Given the description of an element on the screen output the (x, y) to click on. 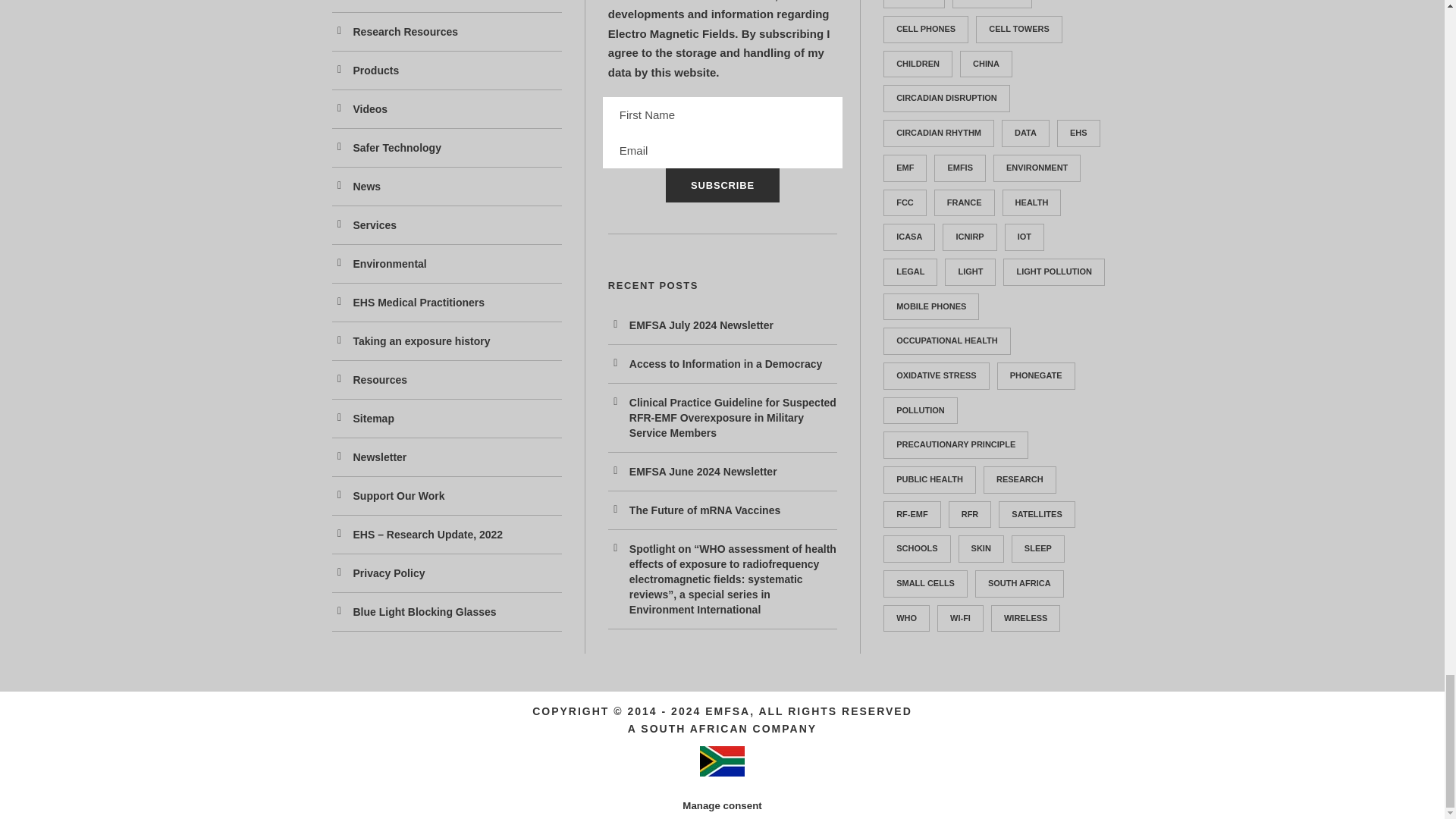
Subscribe (721, 185)
